Given the description of an element on the screen output the (x, y) to click on. 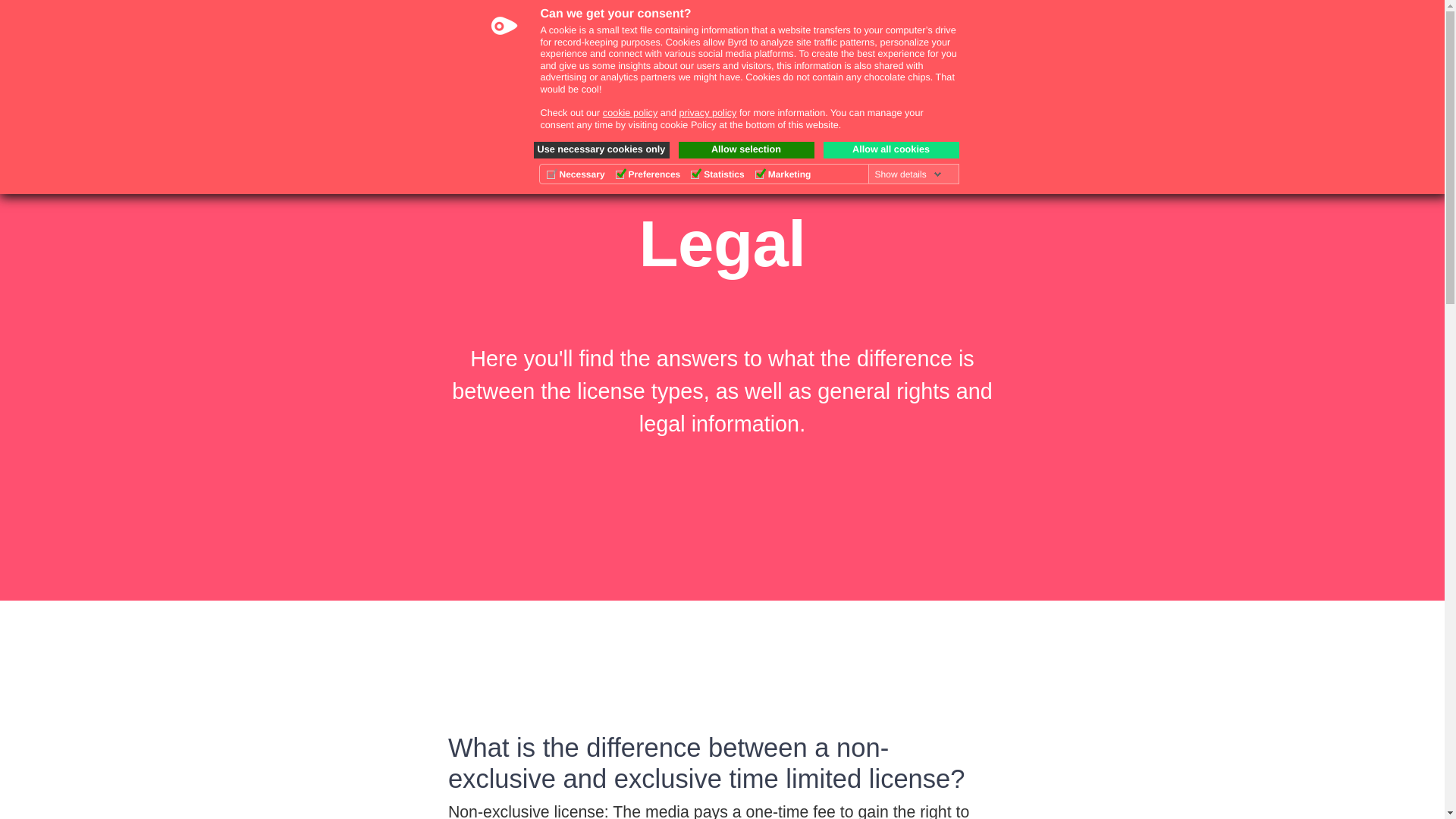
Allow selection (745, 149)
Show details (908, 174)
For Photographers (1005, 48)
cookie policy (630, 112)
Use necessary cookies only (601, 149)
privacy policy (707, 112)
Allow all cookies (891, 149)
Blog (1098, 48)
